Given the description of an element on the screen output the (x, y) to click on. 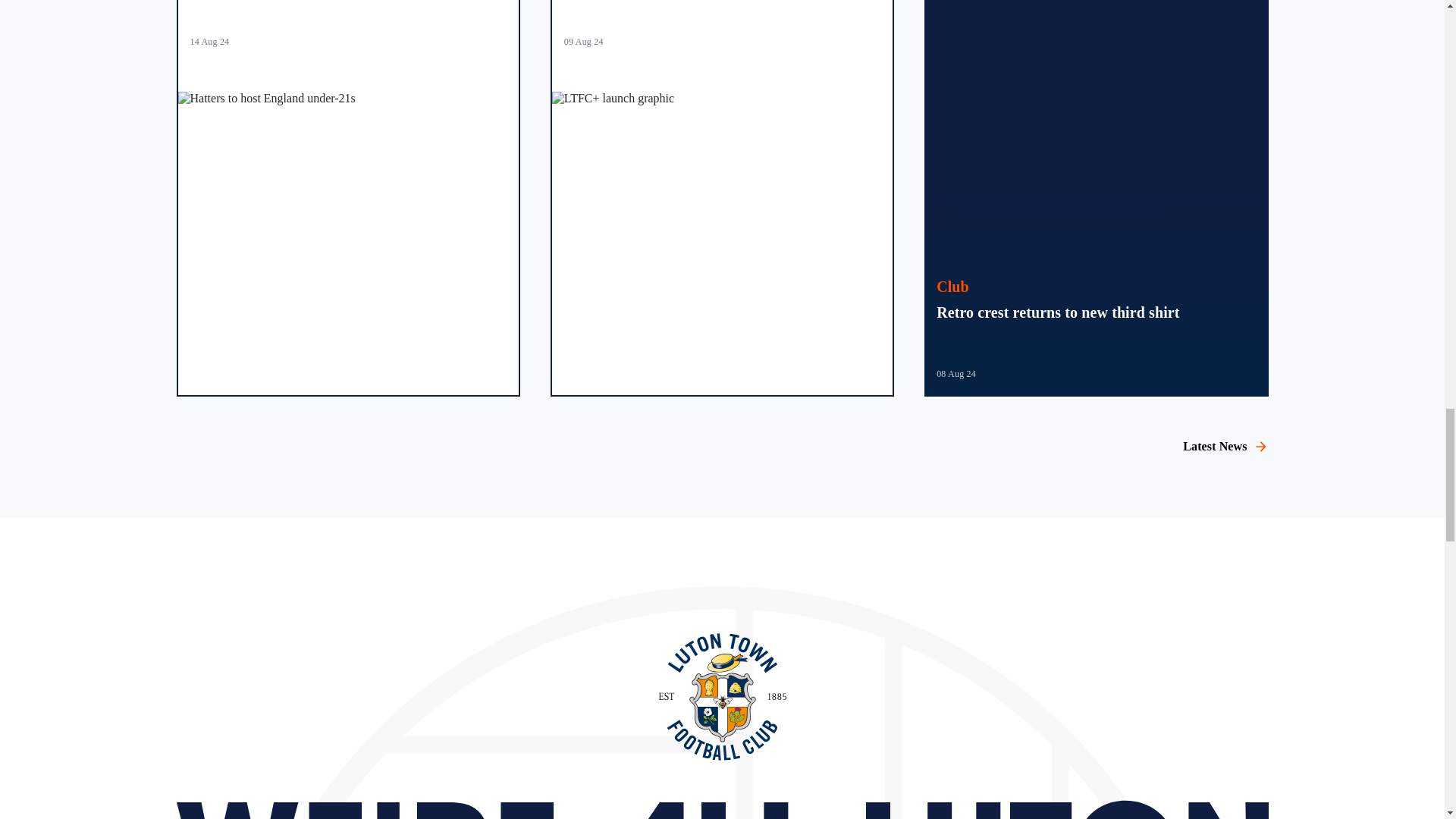
Latest News (1225, 446)
Club (952, 287)
Latest News (1225, 446)
Club (952, 287)
